Given the description of an element on the screen output the (x, y) to click on. 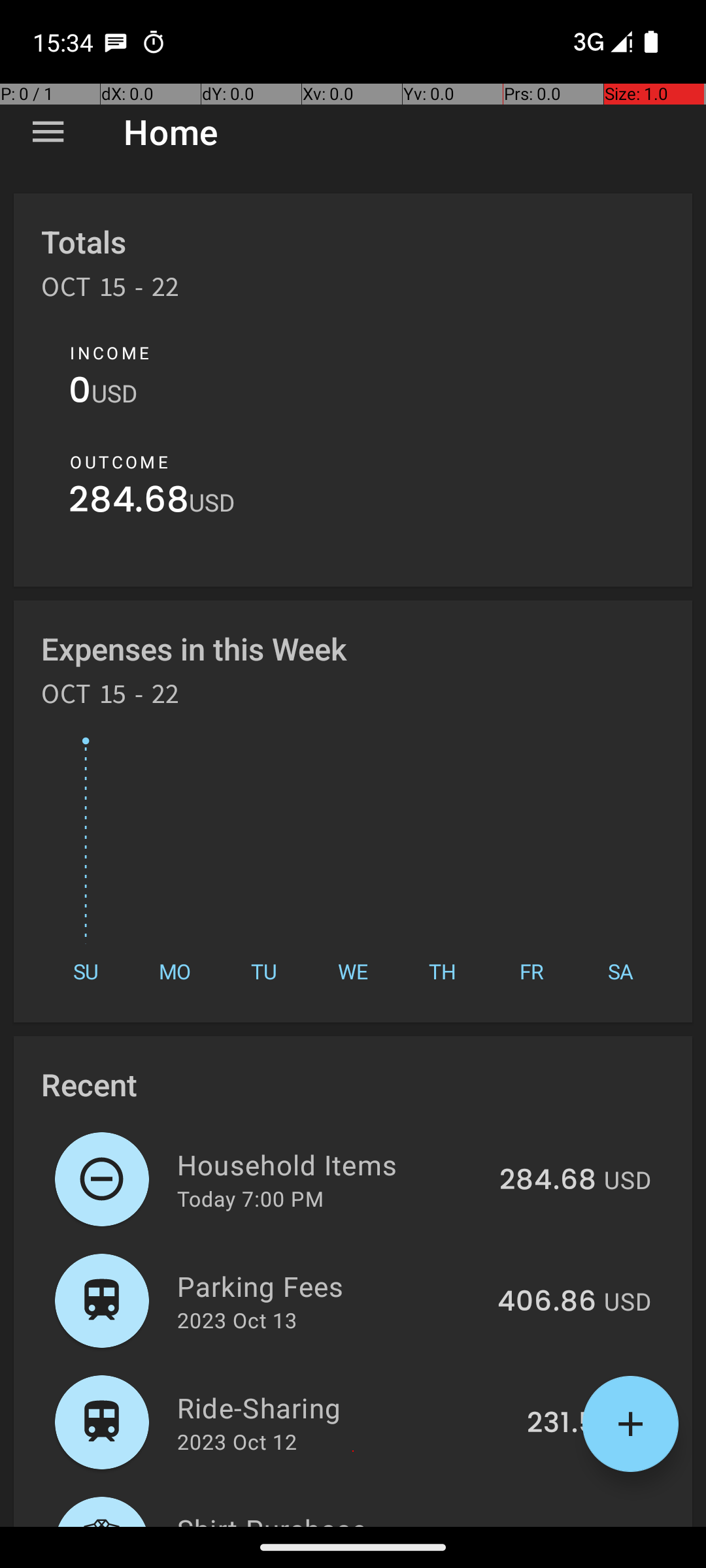
284.68 Element type: android.widget.TextView (128, 502)
Household Items Element type: android.widget.TextView (330, 1164)
Parking Fees Element type: android.widget.TextView (329, 1285)
406.86 Element type: android.widget.TextView (546, 1301)
231.5 Element type: android.widget.TextView (561, 1423)
Shirt Purchase Element type: android.widget.TextView (331, 1518)
236.43 Element type: android.widget.TextView (548, 1524)
